Given the description of an element on the screen output the (x, y) to click on. 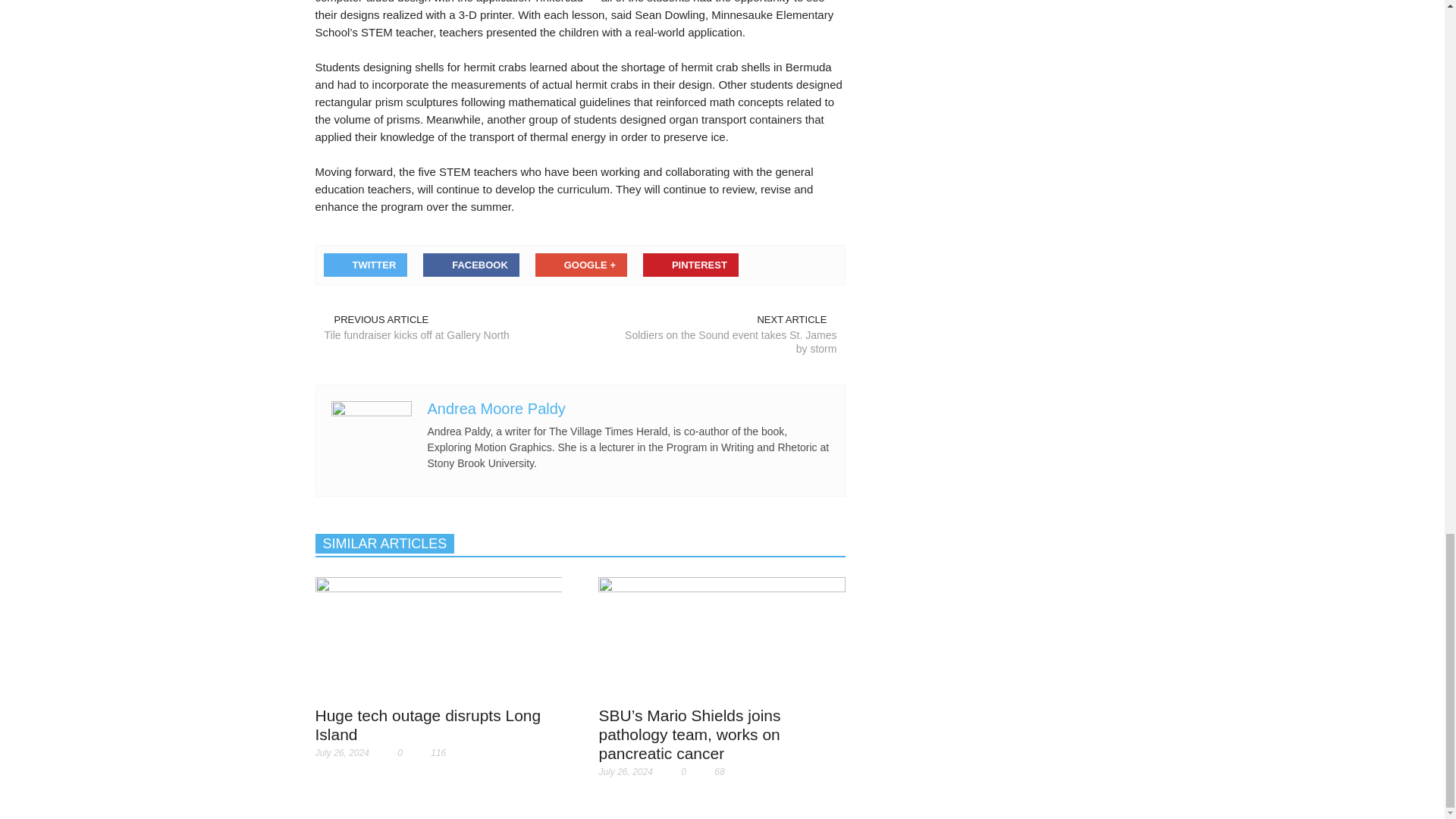
Huge tech outage disrupts Long Island (438, 637)
Huge tech outage disrupts Long Island (438, 635)
Huge tech outage disrupts Long Island (428, 724)
